Given the description of an element on the screen output the (x, y) to click on. 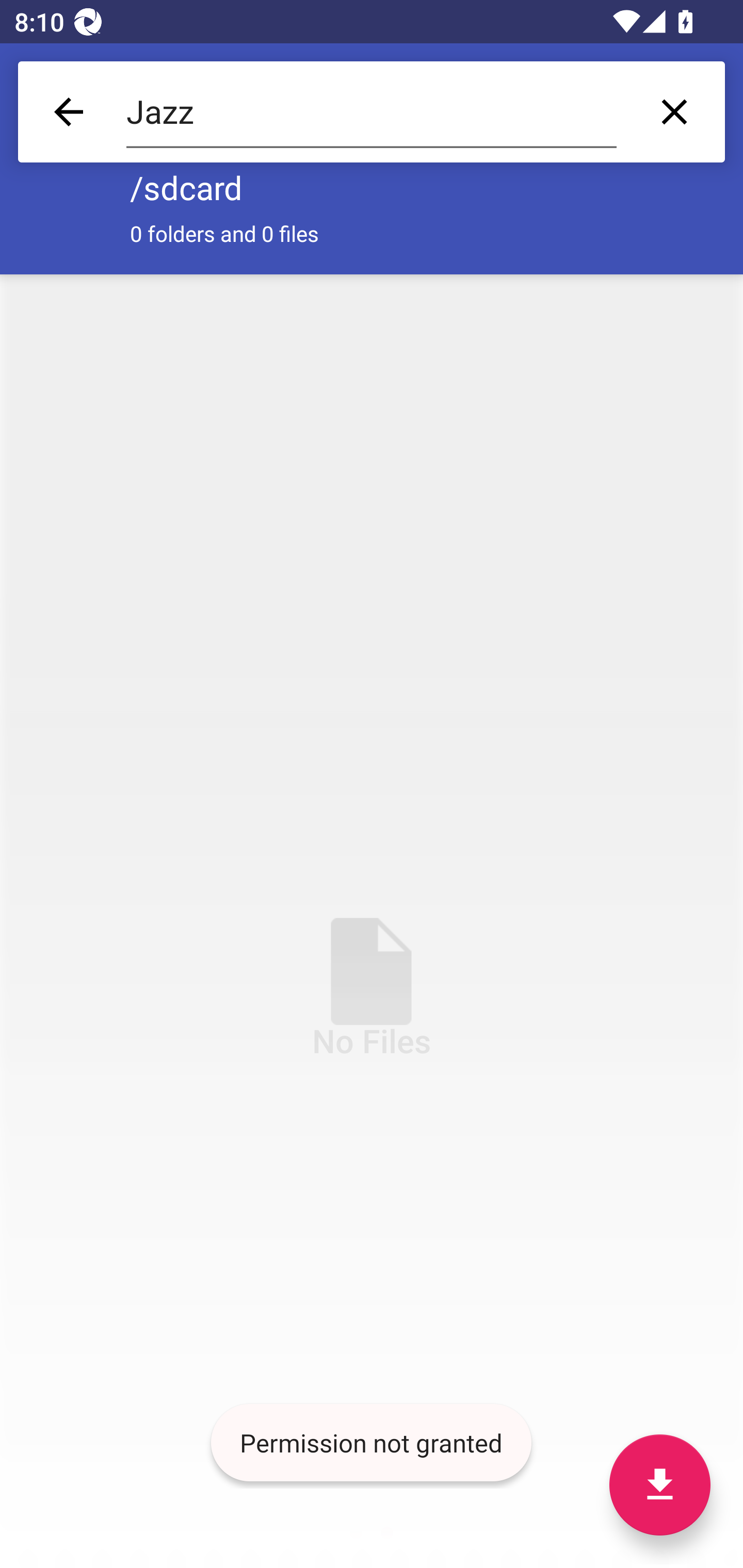
Jazz (371, 112)
